Given the description of an element on the screen output the (x, y) to click on. 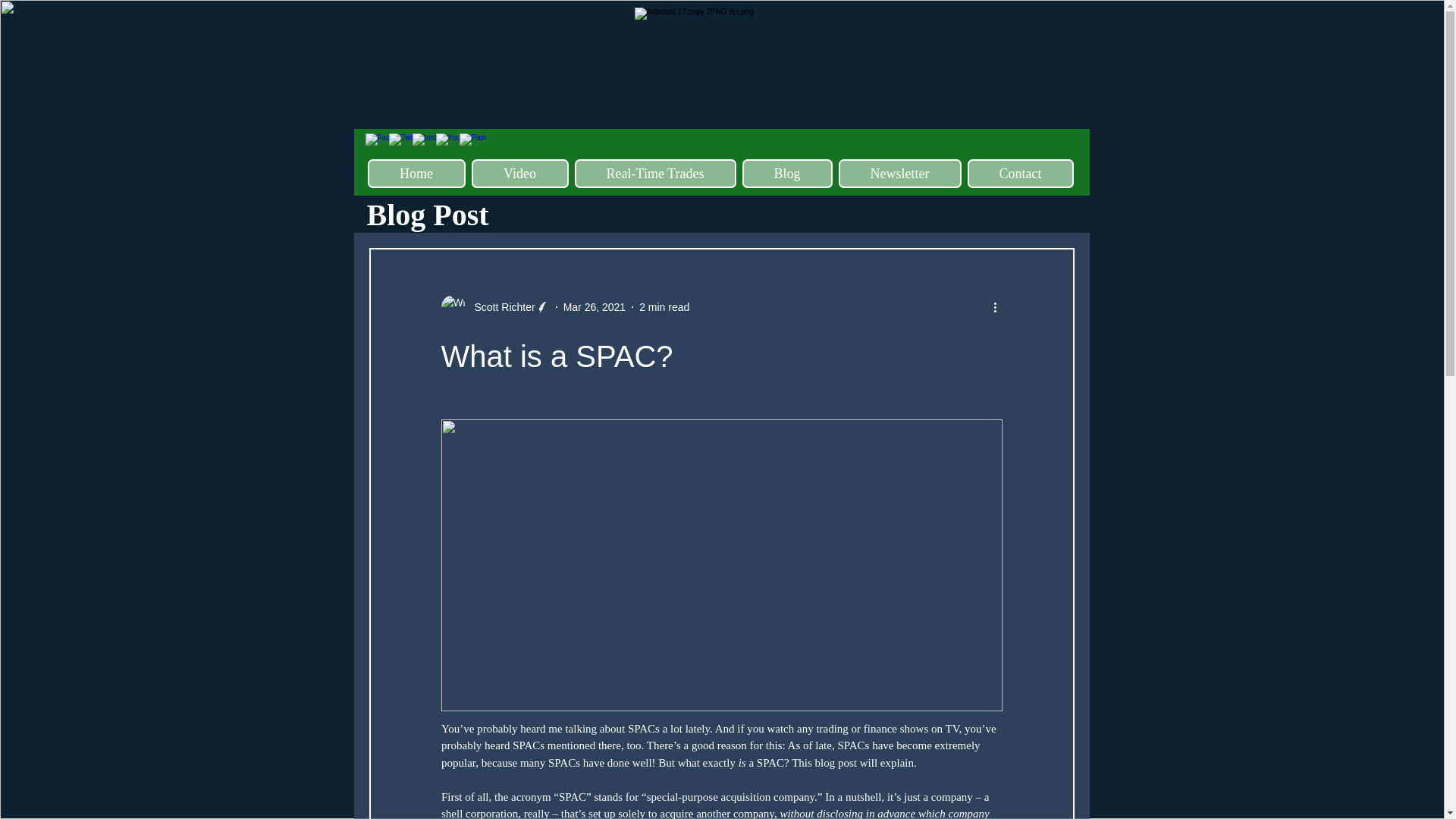
Mar 26, 2021 (594, 306)
Home (415, 173)
Blog (786, 173)
Scott Richter (500, 306)
Real-Time Trades (655, 173)
Video (520, 173)
2 min read (663, 306)
Contact (1021, 173)
Newsletter (899, 173)
